Given the description of an element on the screen output the (x, y) to click on. 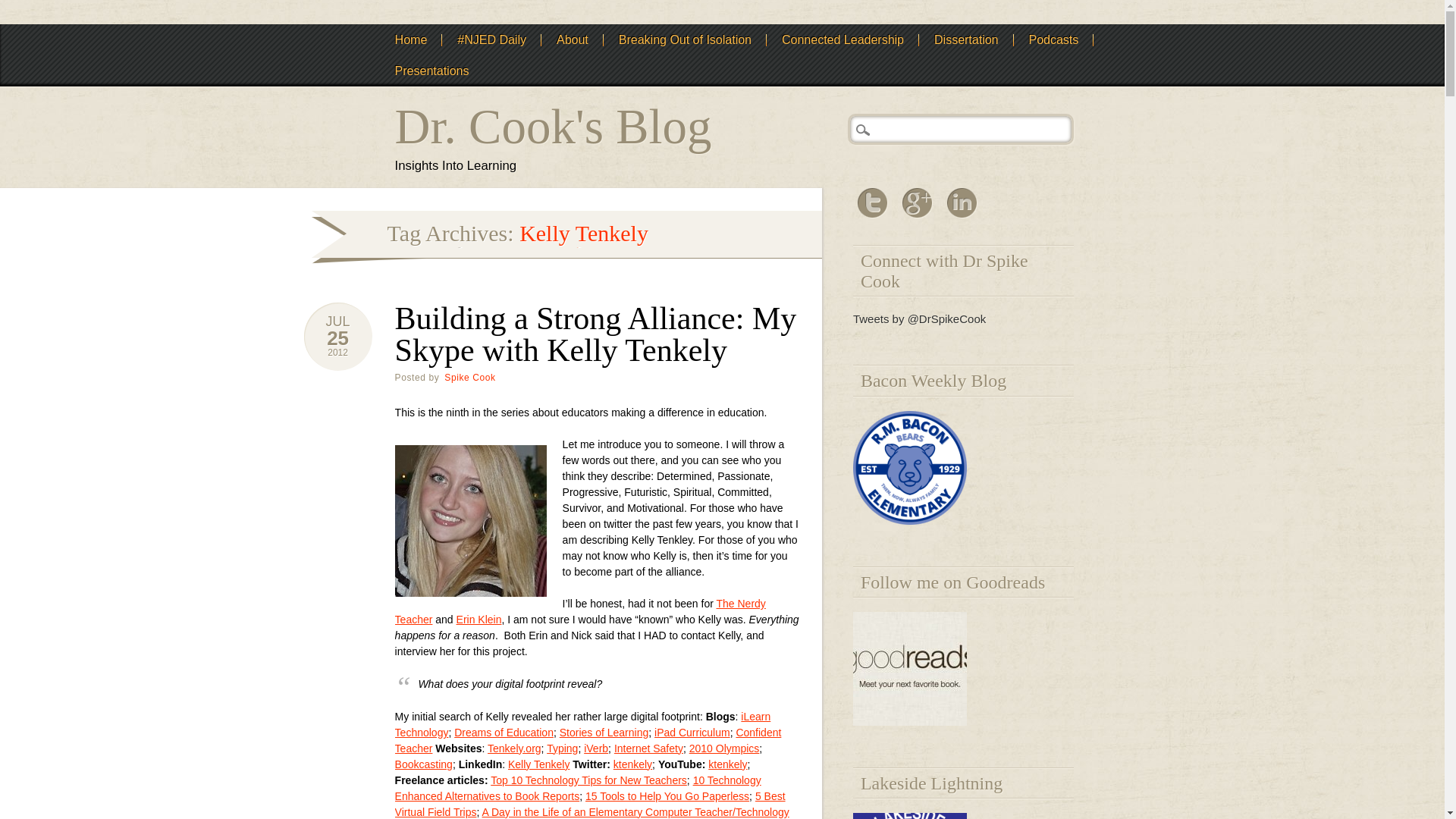
Connected Leadership (842, 39)
iLearn Technology (582, 724)
Breaking Out of Isolation (685, 39)
kelly (470, 521)
Podcasts (1053, 39)
2012 (337, 352)
25 (337, 337)
Building a Strong Alliance: My Skype with Kelly Tenkely (595, 334)
10 Technology Enhanced Alternatives to Book Reports (577, 787)
iVerb (595, 748)
